Given the description of an element on the screen output the (x, y) to click on. 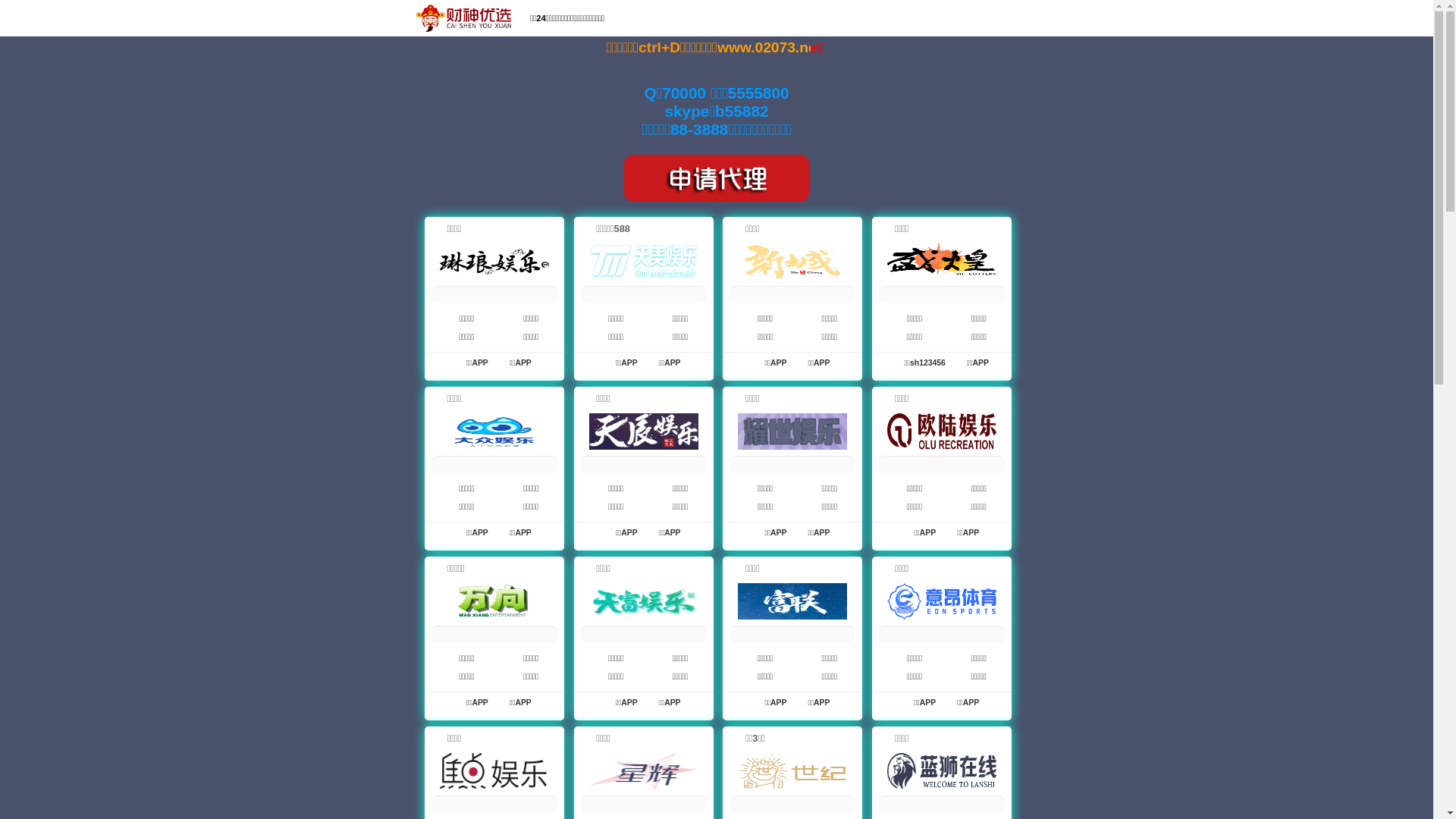
E-mail Element type: text (1162, 19)
QQ Element type: text (1117, 19)
